Given the description of an element on the screen output the (x, y) to click on. 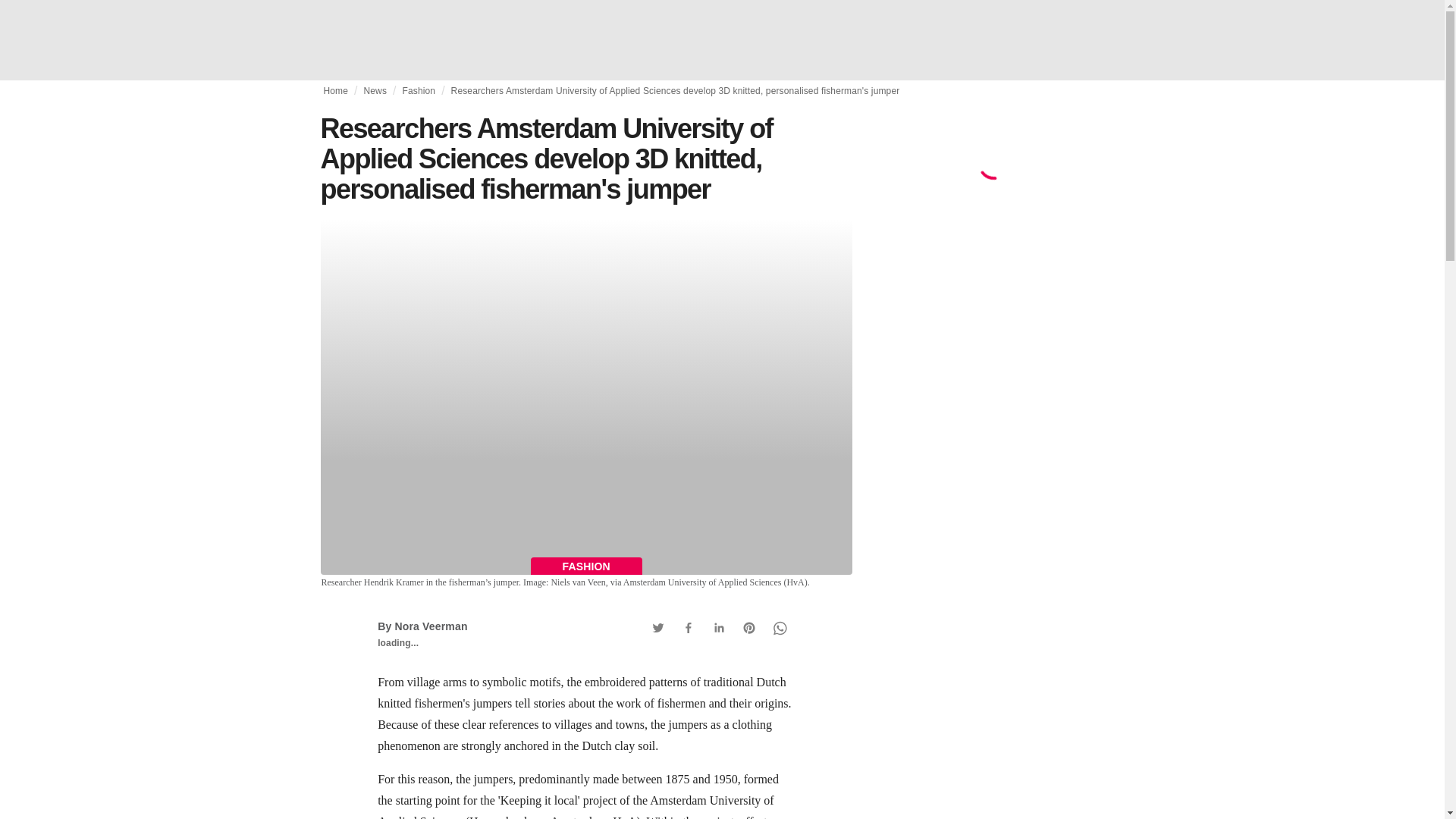
Home (335, 90)
By Nora Veerman (422, 625)
Fashion (418, 90)
News (375, 90)
